Given the description of an element on the screen output the (x, y) to click on. 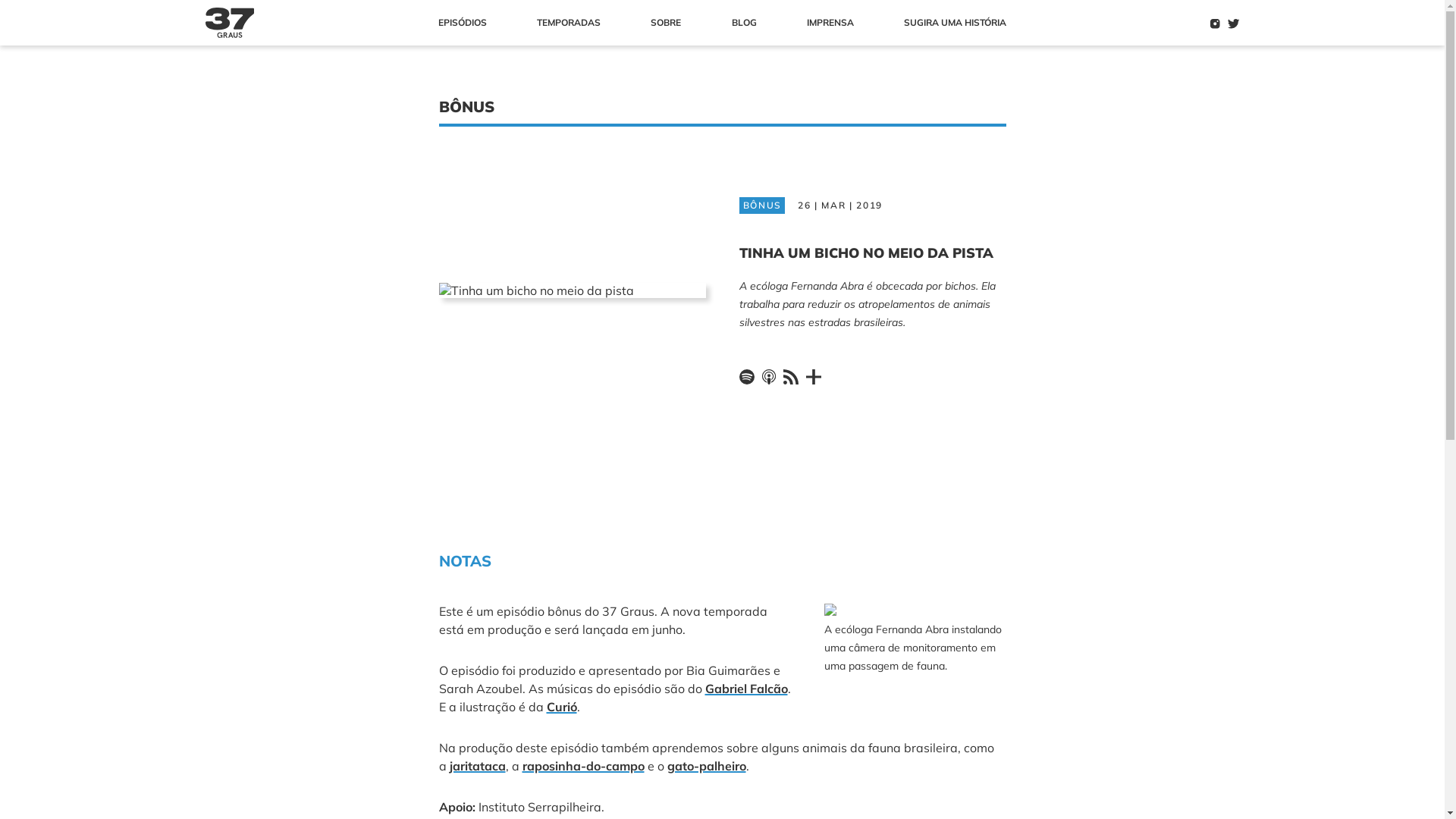
Apple Podcasts Element type: hover (771, 375)
TEMPORADAS Element type: text (568, 22)
jaritataca Element type: text (476, 765)
SOBRE Element type: text (665, 22)
Instagram Element type: hover (1215, 23)
gato-palheiro Element type: text (706, 765)
Spotify Element type: hover (749, 375)
Twitter Element type: hover (1233, 23)
Outros Element type: hover (817, 375)
BLOG Element type: text (743, 22)
IMPRENSA Element type: text (829, 22)
Feed RSS Element type: hover (794, 375)
raposinha-do-campo Element type: text (582, 765)
